Given the description of an element on the screen output the (x, y) to click on. 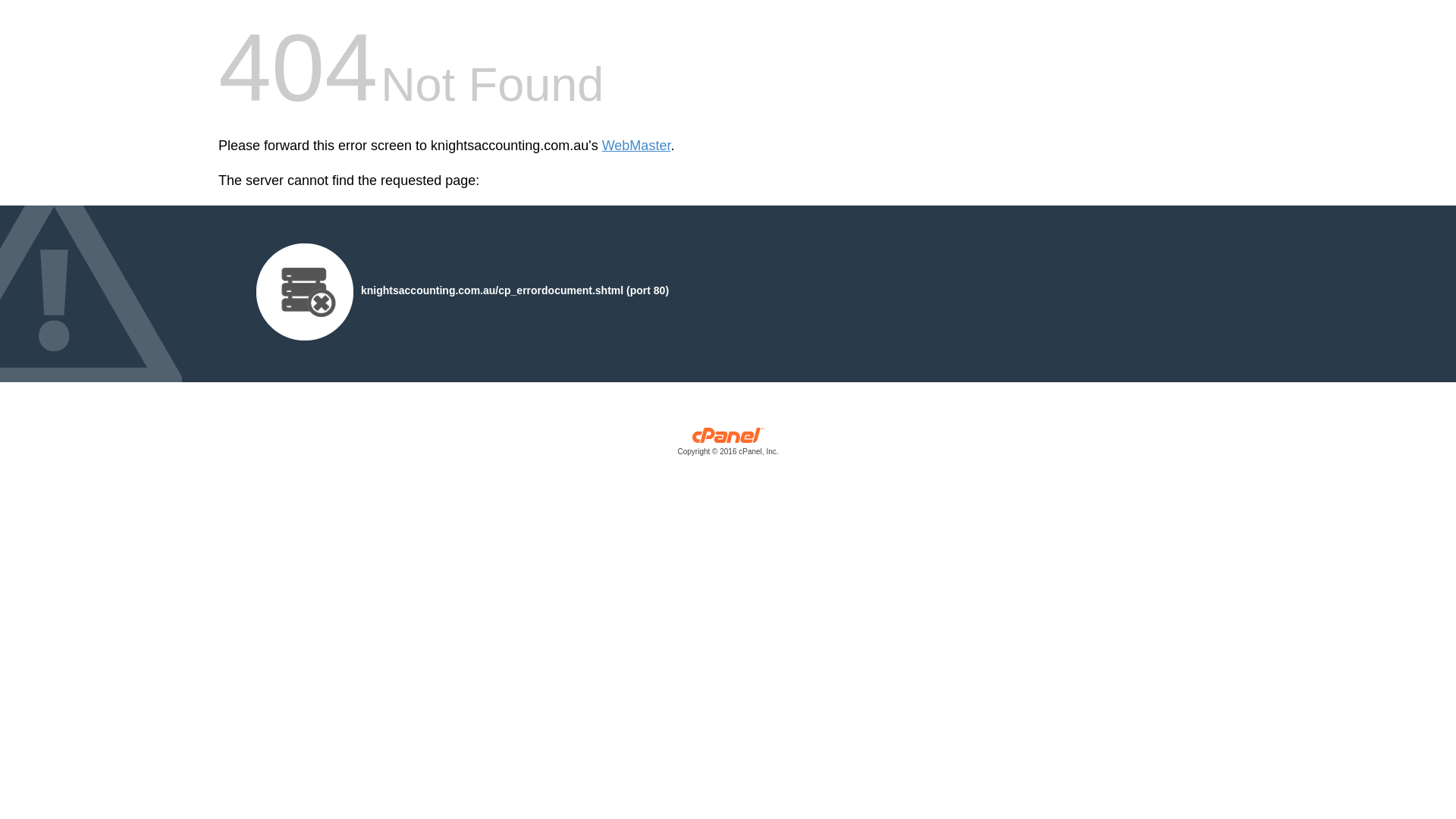
WebMaster Element type: text (636, 145)
